Given the description of an element on the screen output the (x, y) to click on. 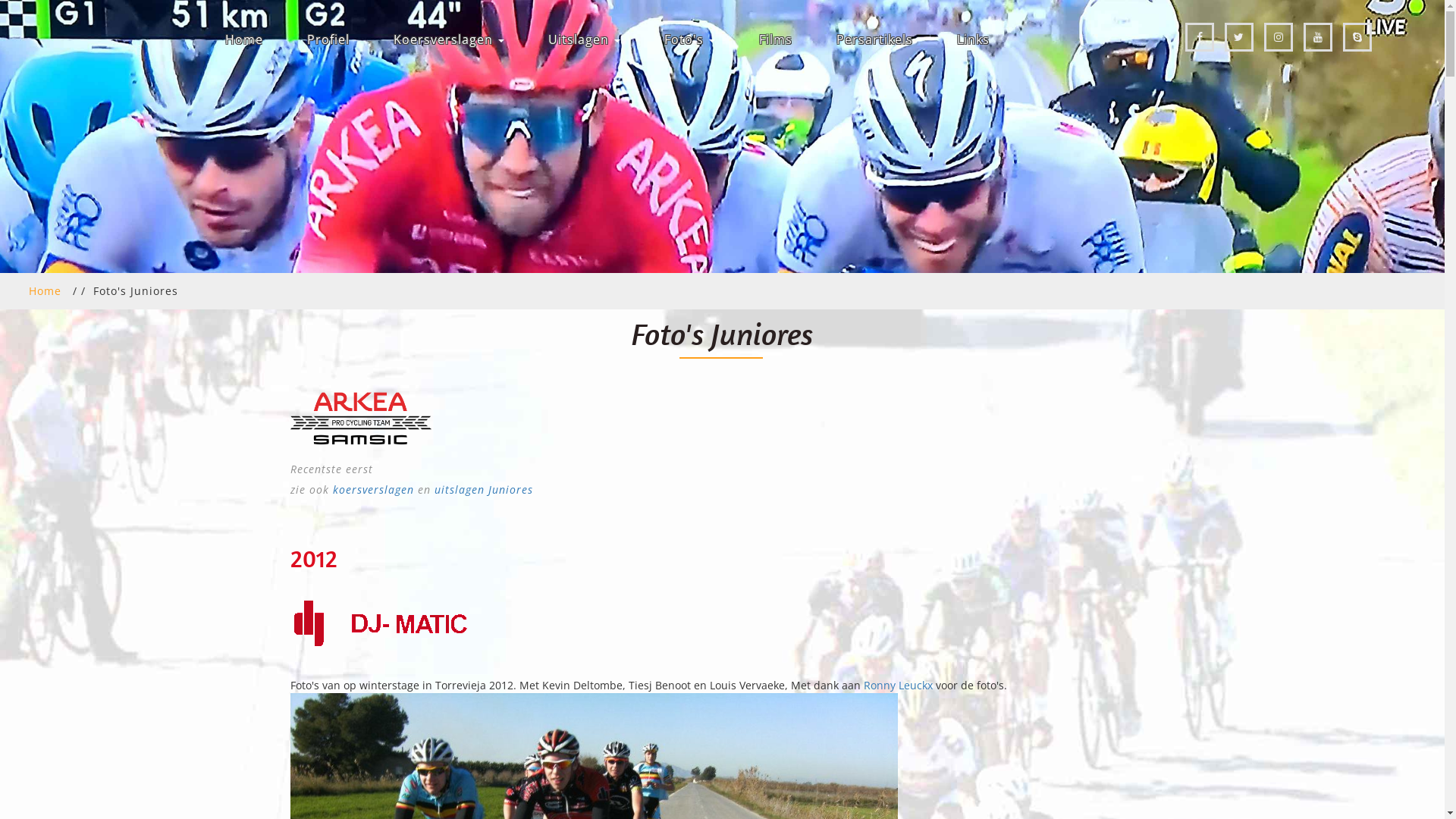
Home Element type: text (44, 290)
koersverslagen Element type: text (374, 489)
Profiel Element type: text (327, 39)
Foto's Element type: text (689, 39)
Uitslagen Element type: text (583, 39)
Koersverslagen Element type: text (447, 39)
Ronny Leuckx Element type: text (896, 684)
Persartikels Element type: text (873, 39)
Home Element type: text (243, 39)
Films Element type: text (774, 39)
uitslagen Juniores Element type: text (482, 489)
Links Element type: text (972, 39)
